Given the description of an element on the screen output the (x, y) to click on. 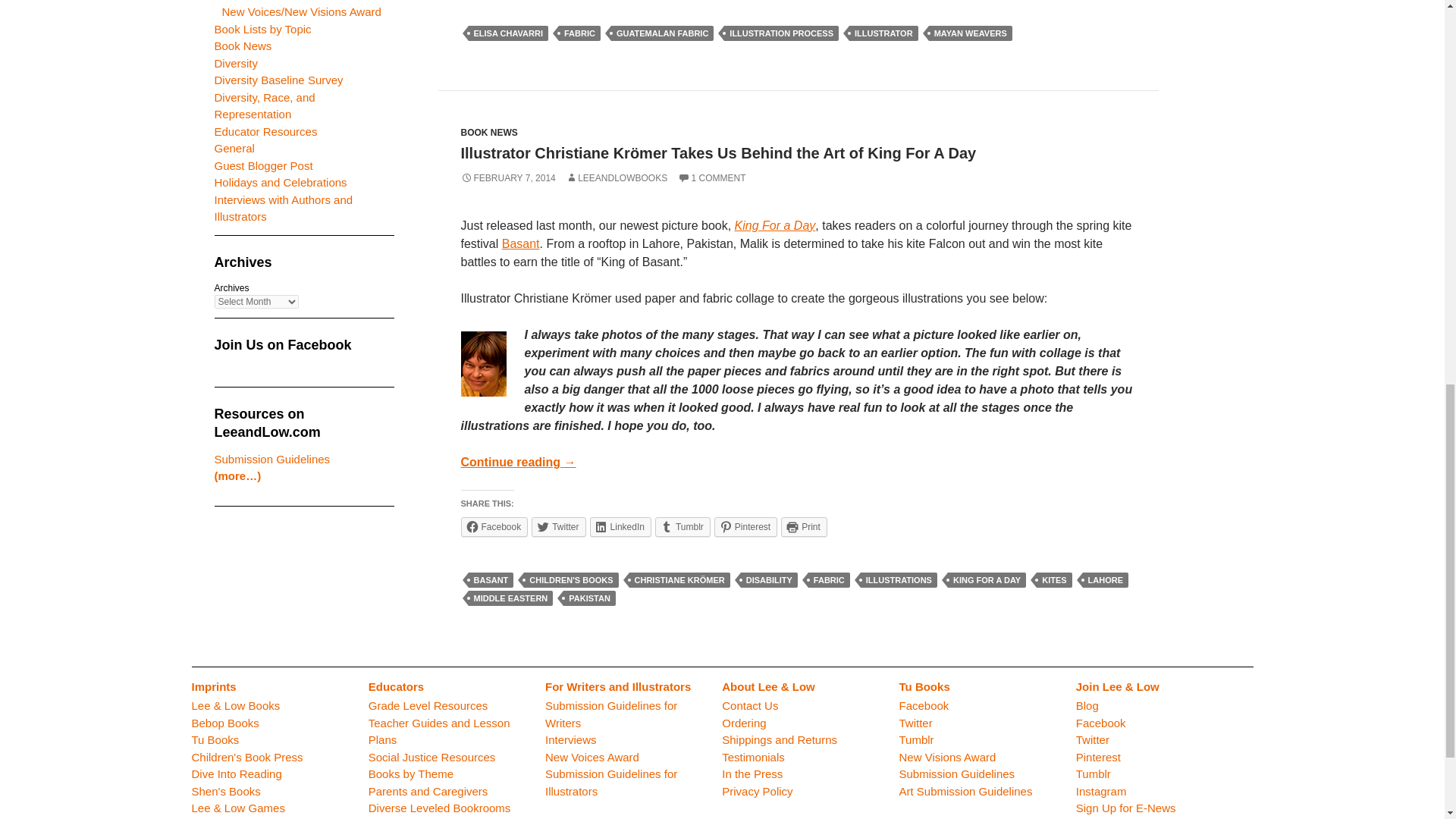
ILLUSTRATOR (883, 32)
Click to share on Facebook (494, 526)
Click to share on LinkedIn (619, 526)
ELISA CHAVARRI (508, 32)
Click to share on Pinterest (745, 526)
FEBRUARY 7, 2014 (508, 177)
King For a Day (775, 225)
1 COMMENT (711, 177)
Click to print (803, 526)
Click to share on Twitter (558, 526)
Basant (521, 243)
MAYAN WEAVERS (969, 32)
Click to share on Tumblr (682, 526)
ILLUSTRATION PROCESS (780, 32)
Twitter (558, 526)
